Given the description of an element on the screen output the (x, y) to click on. 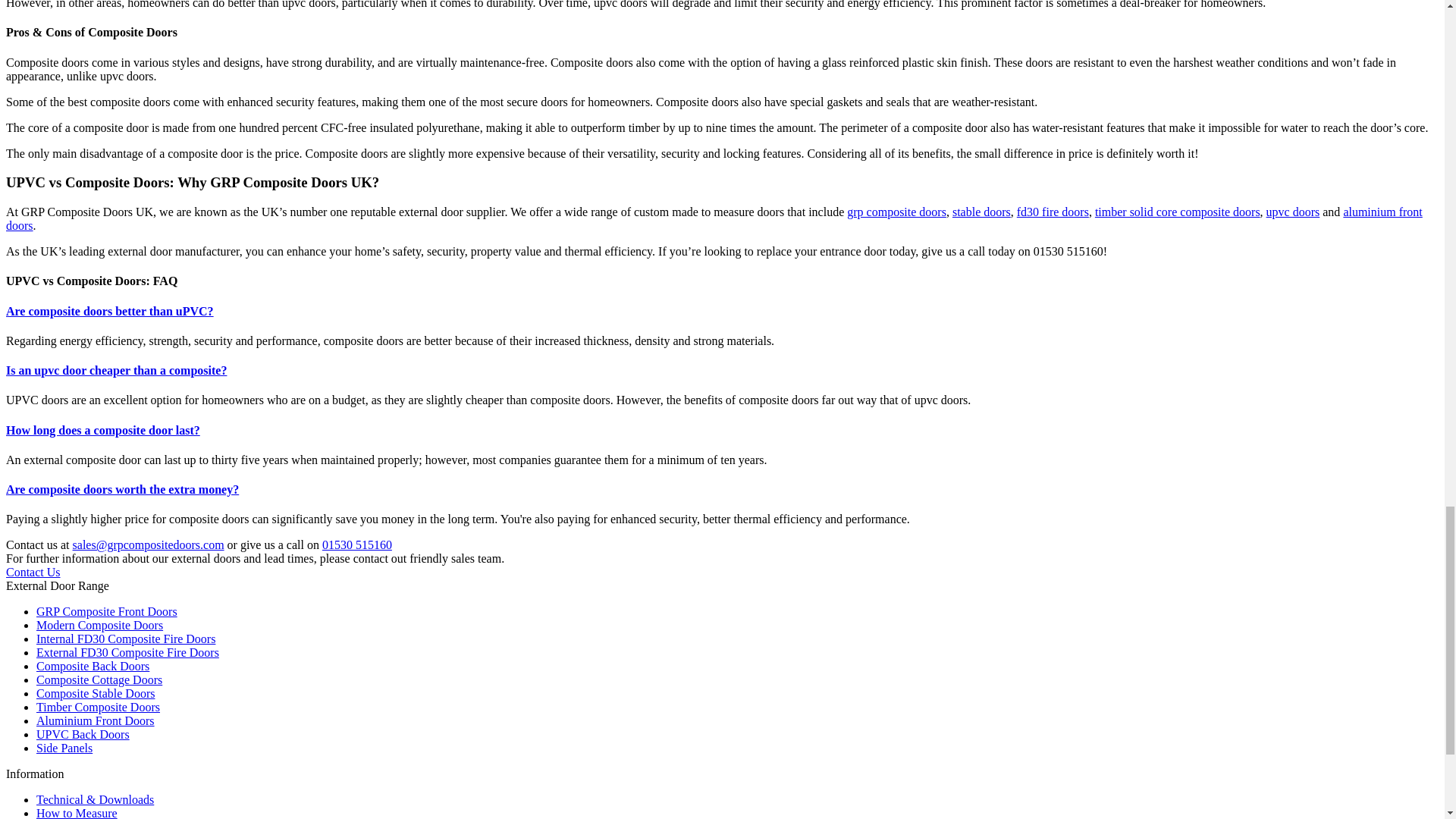
fd30 fire doors (1052, 211)
stable doors (981, 211)
grp composite doors (896, 211)
